Given the description of an element on the screen output the (x, y) to click on. 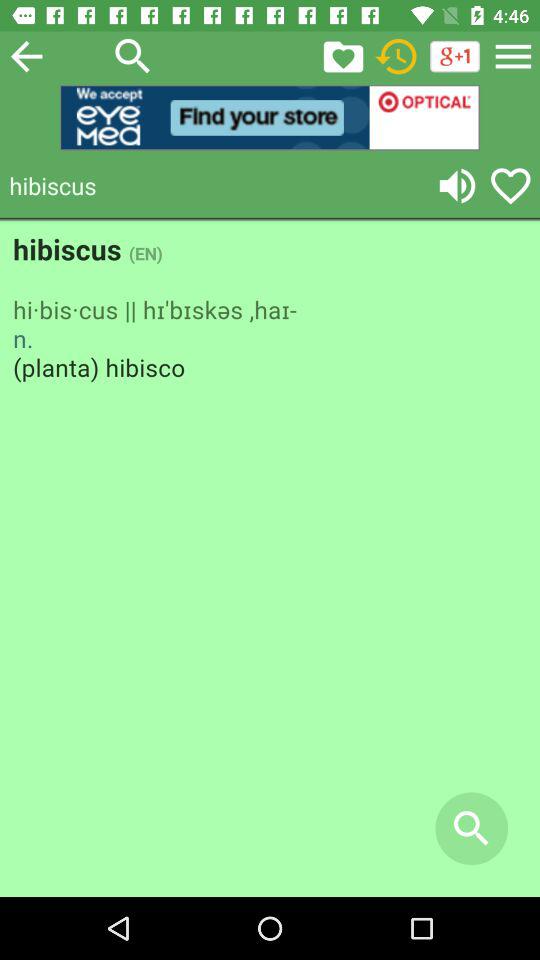
bookmark page (343, 56)
